Given the description of an element on the screen output the (x, y) to click on. 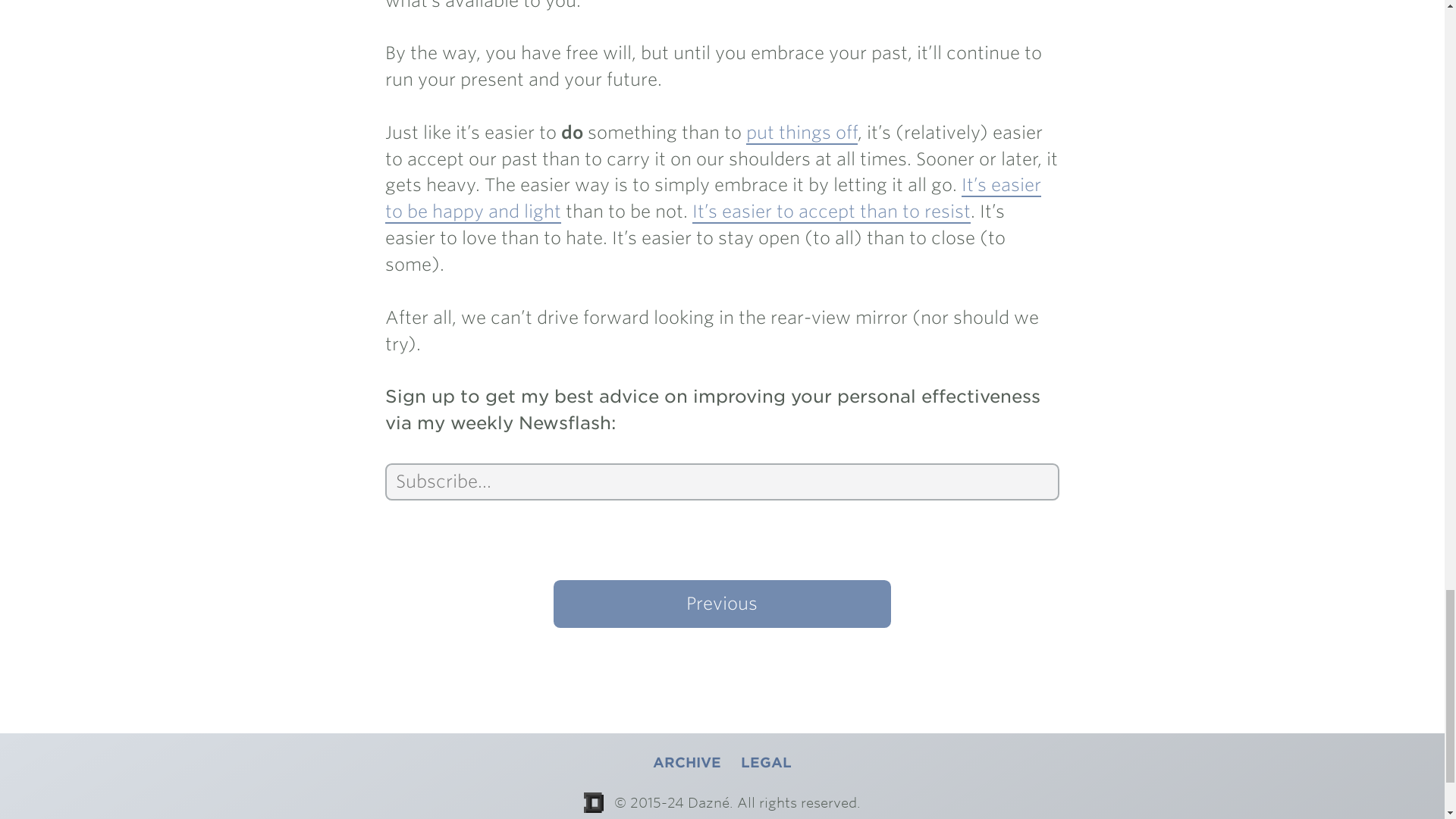
LEGAL (766, 762)
Previous (721, 603)
ARCHIVE (686, 762)
put things off (801, 133)
